Given the description of an element on the screen output the (x, y) to click on. 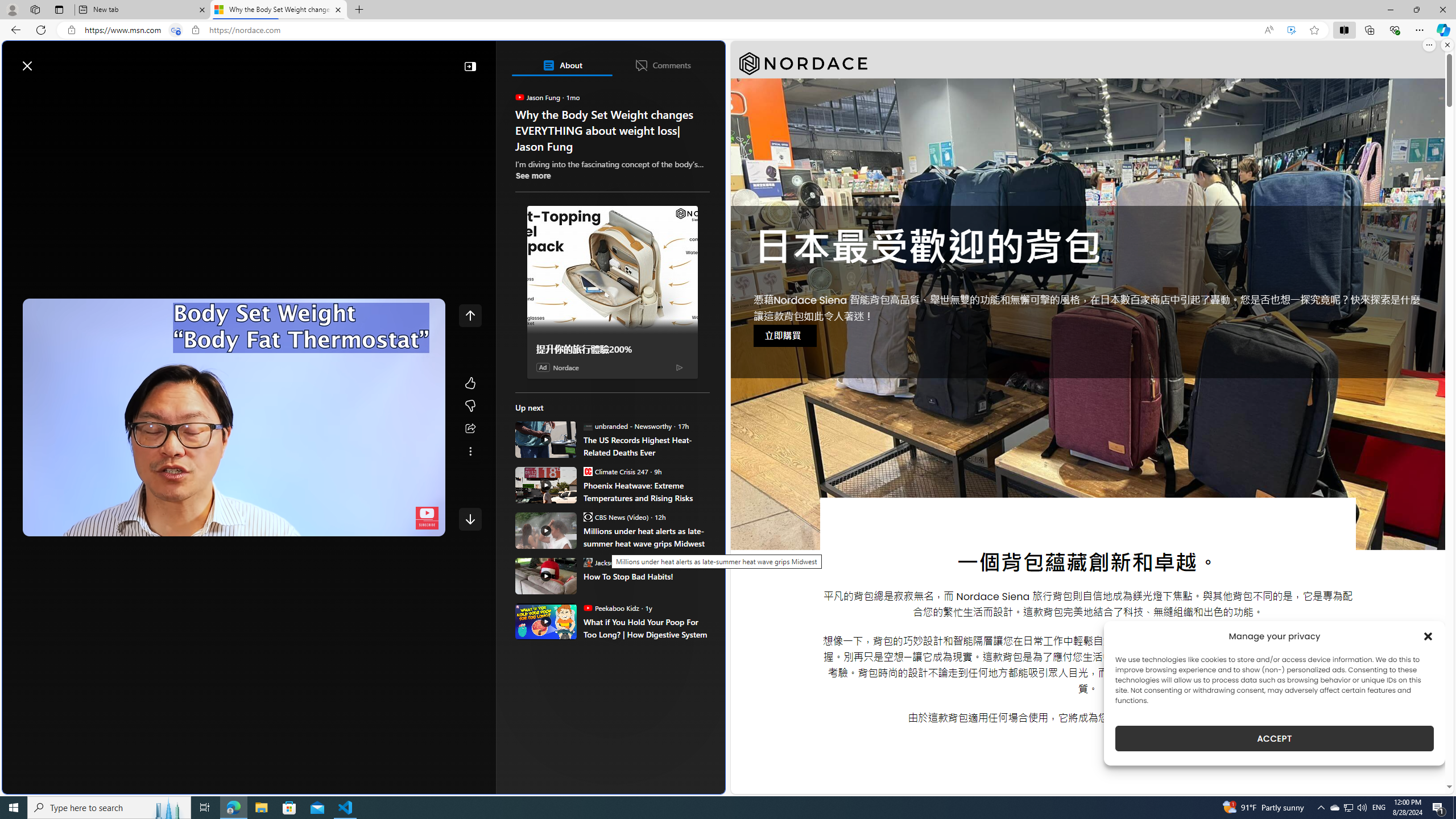
Open navigation menu (16, 92)
Ad Choice (678, 367)
Settings and more (Alt+F) (1419, 29)
Watch (145, 92)
More like thisFewer like this (469, 394)
Climate Crisis 247 Climate Crisis 247 (614, 470)
Personalize (679, 92)
Following (97, 92)
